Given the description of an element on the screen output the (x, y) to click on. 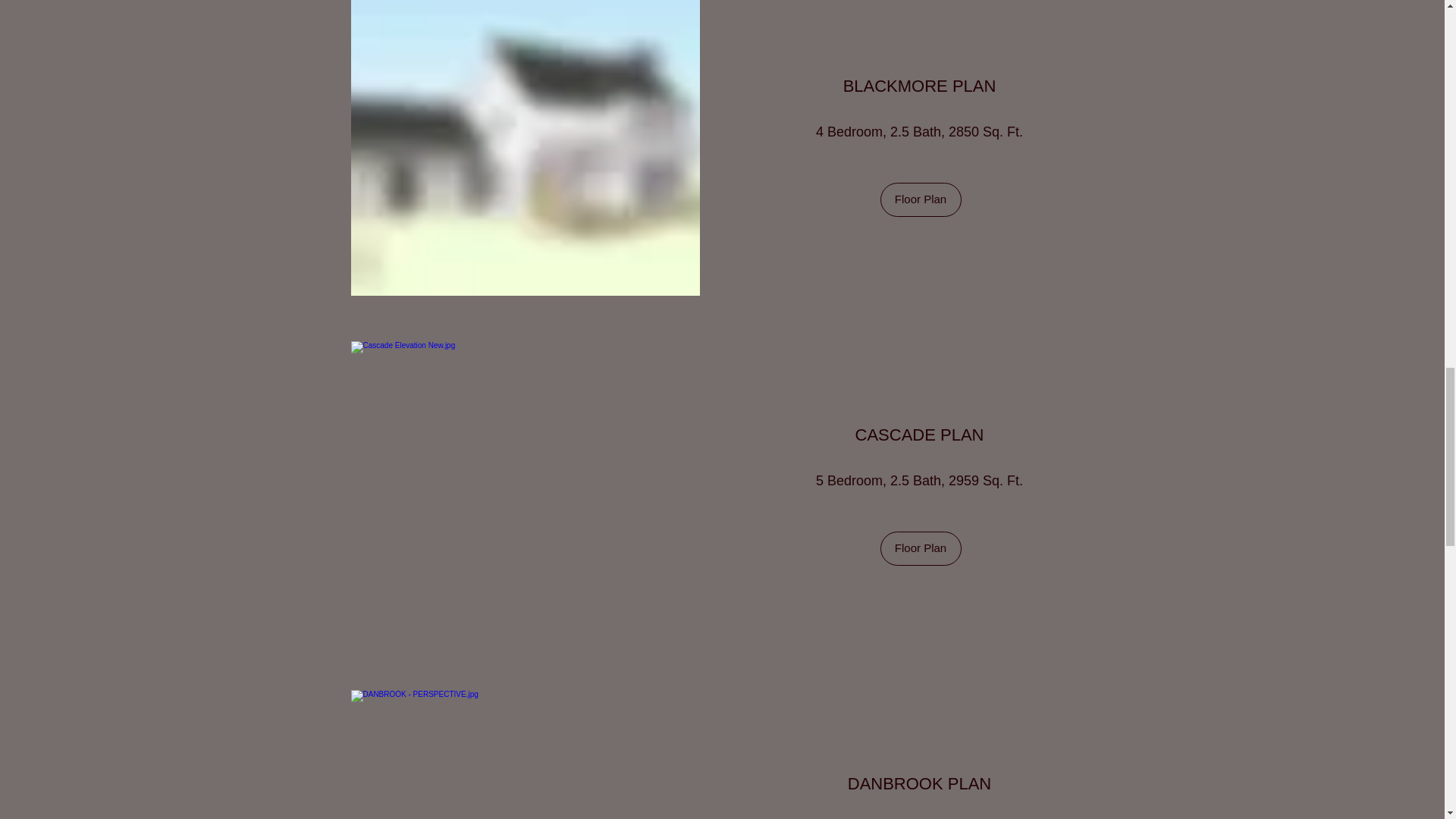
Floor Plan (919, 548)
Floor Plan (919, 199)
